Given the description of an element on the screen output the (x, y) to click on. 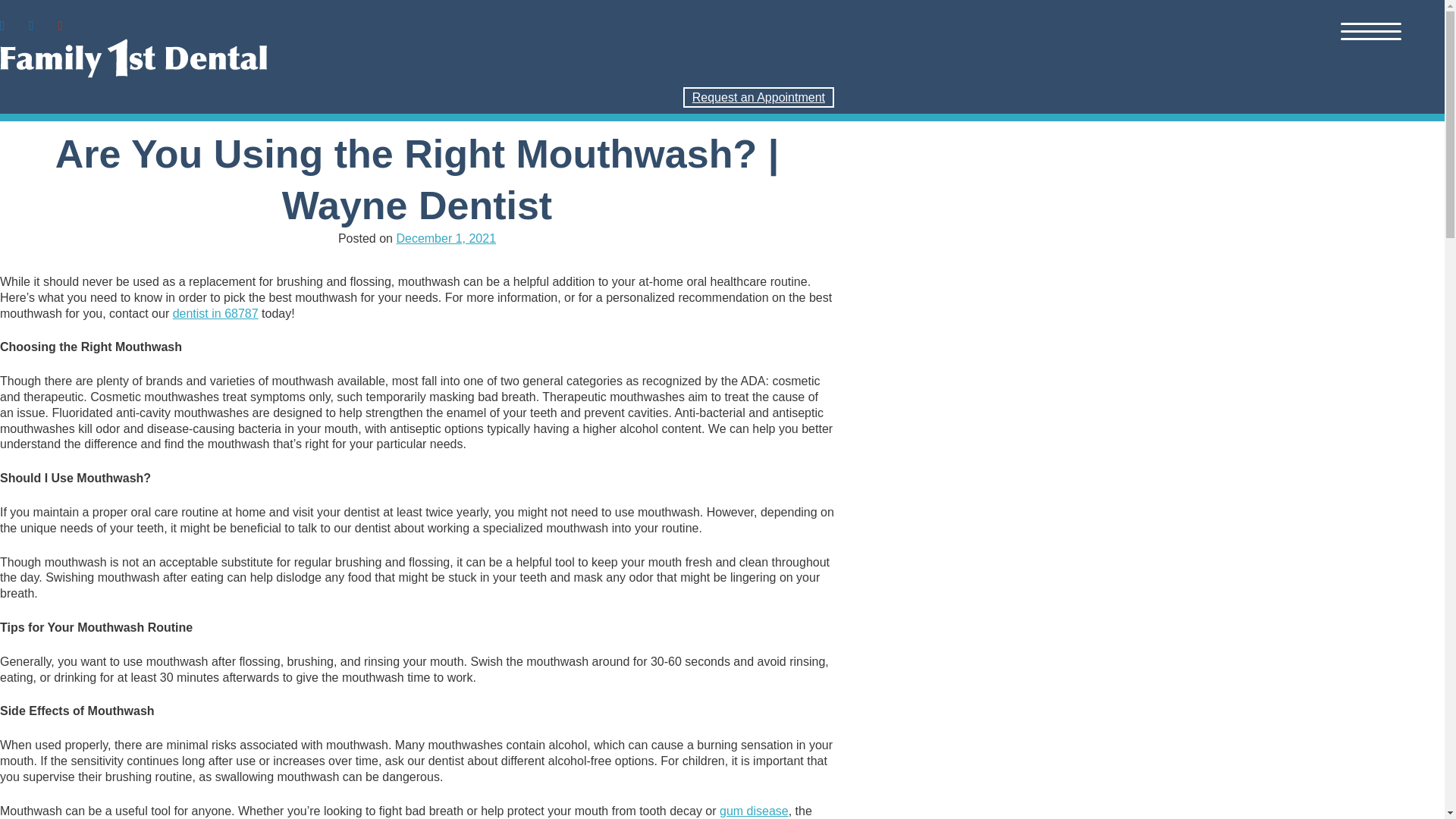
Facebook (5, 24)
Family 1st Dental (417, 57)
google (30, 24)
yelp (59, 24)
Request an Appointment (758, 96)
Instagram (30, 24)
Default Label (59, 24)
